Given the description of an element on the screen output the (x, y) to click on. 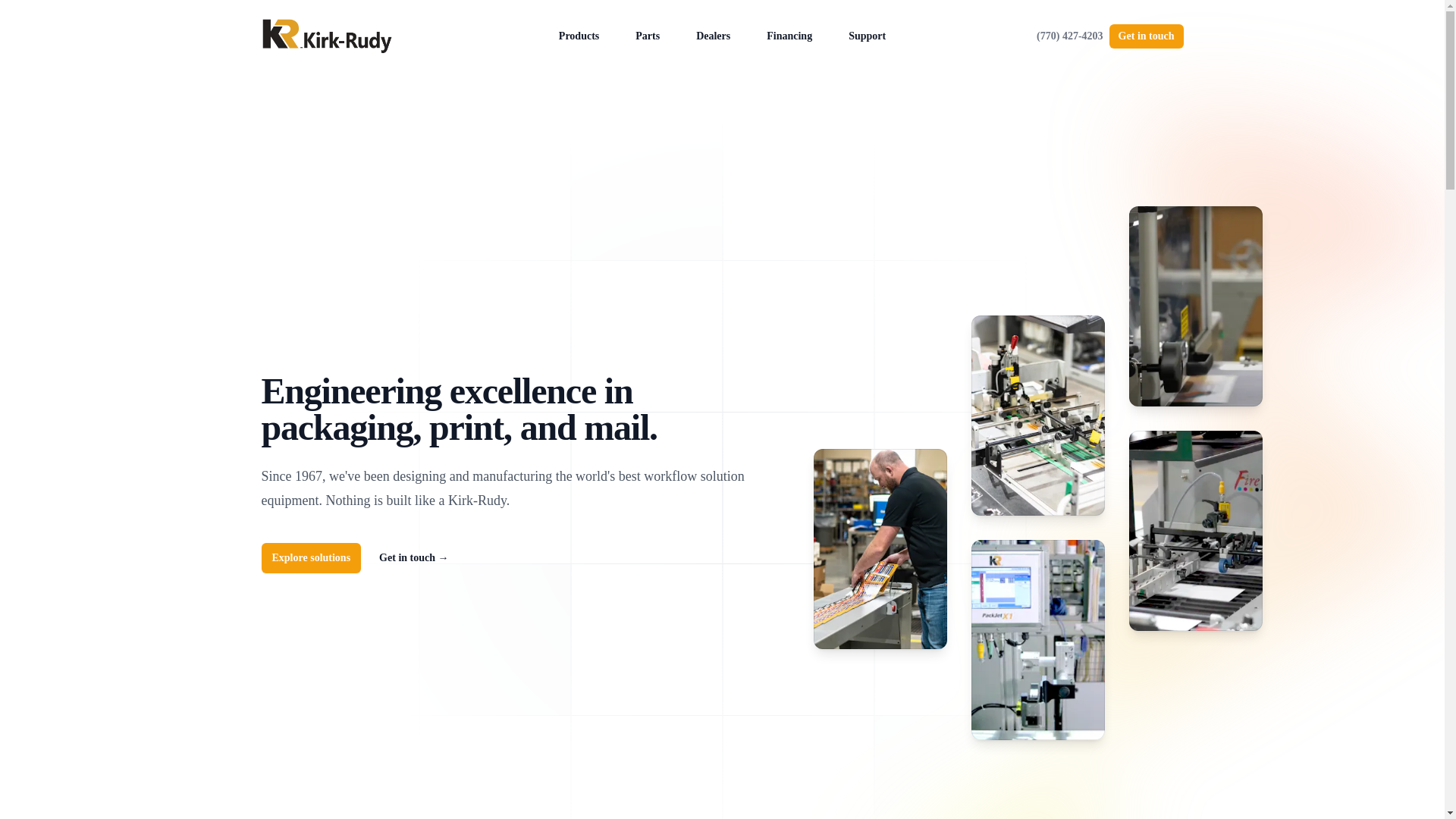
Dealers (712, 36)
Get in touch (1146, 36)
Parts (646, 36)
Financing (789, 36)
Products (578, 36)
Kirk-Rudy (326, 35)
Explore solutions (310, 557)
Support (866, 36)
